Given the description of an element on the screen output the (x, y) to click on. 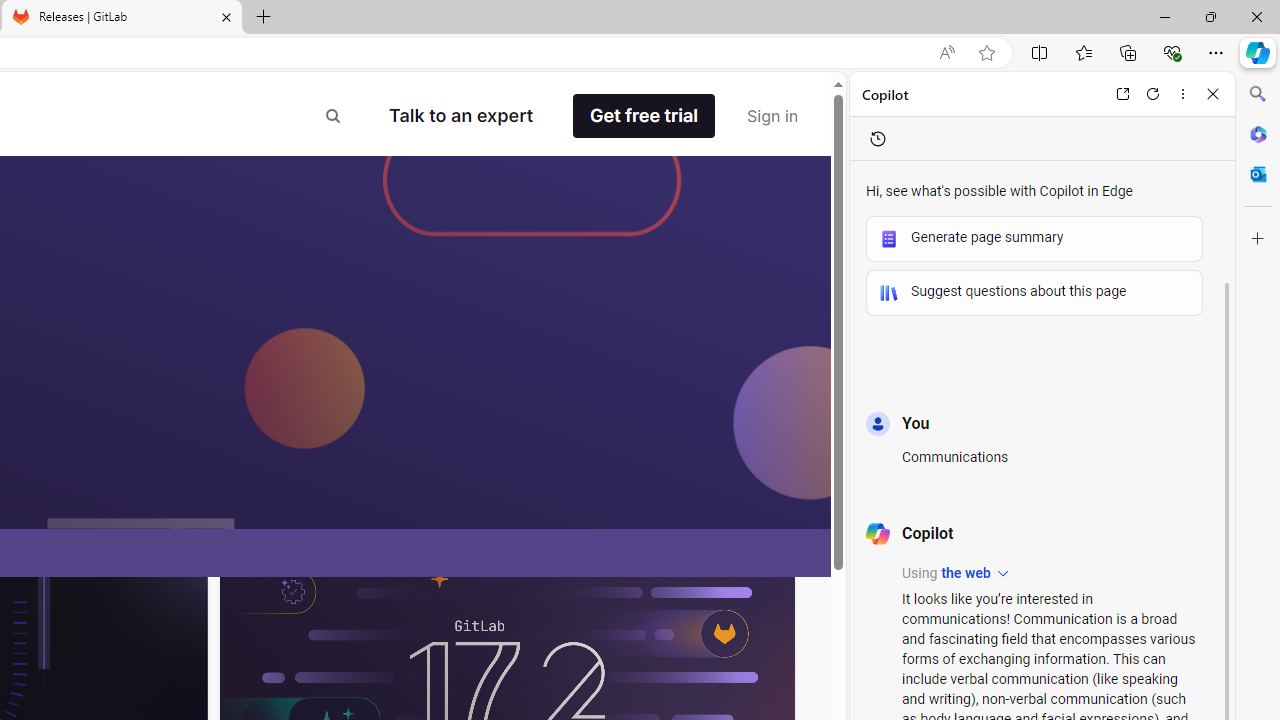
Get free trial (644, 116)
Talk to an expert (461, 115)
